Given the description of an element on the screen output the (x, y) to click on. 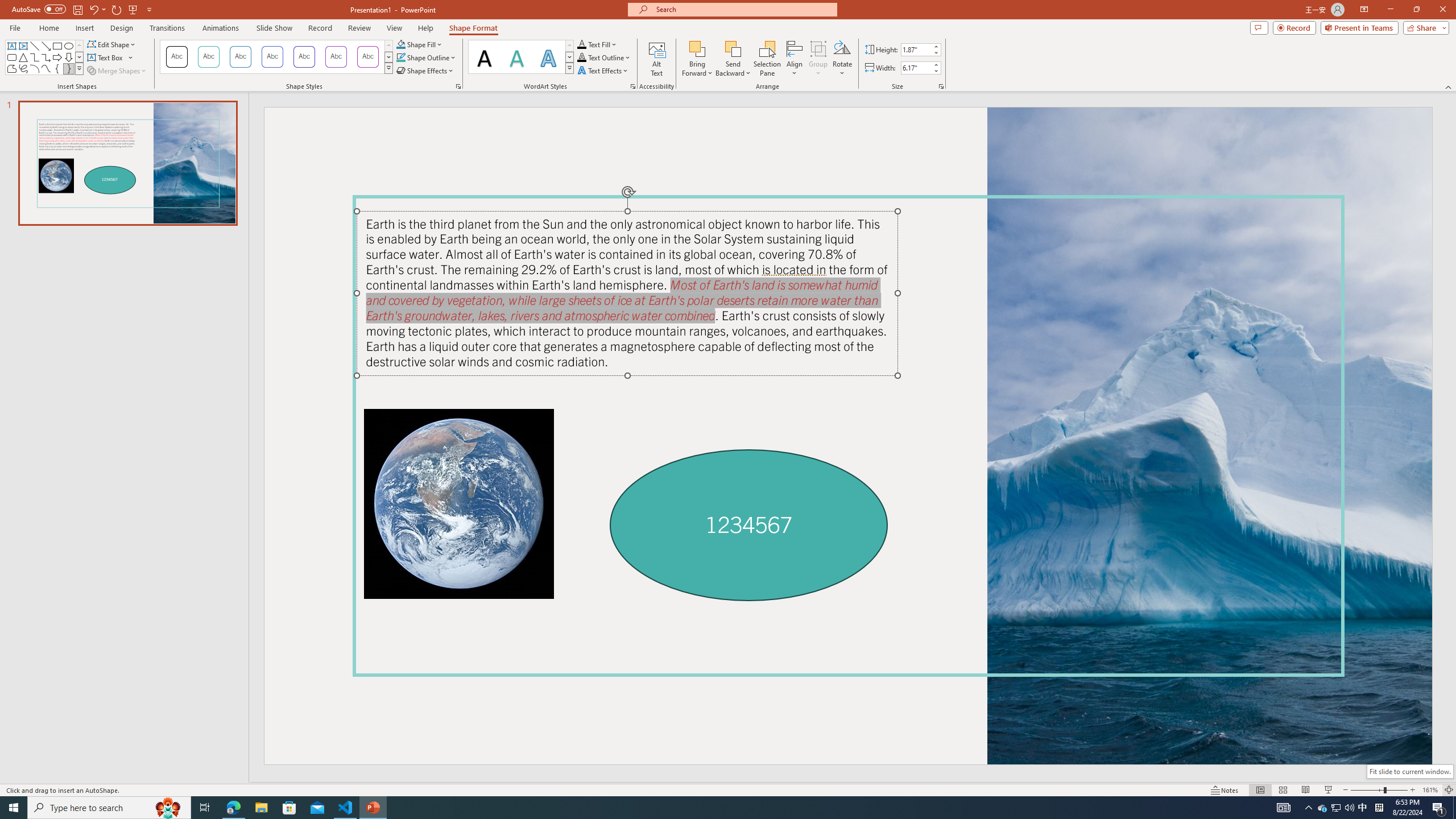
Freeform: Shape (11, 68)
Colored Outline - Pink, Accent 6 (368, 56)
Minimize (1390, 9)
Line Arrow (46, 45)
Colored Outline - Blue, Accent 3 (272, 56)
Save (77, 9)
Connector: Elbow (34, 57)
Shape Effects (425, 69)
Rectangle (57, 45)
Shape Width (915, 67)
From Beginning (133, 9)
System (6, 6)
Record (320, 28)
Insert (83, 28)
